Given the description of an element on the screen output the (x, y) to click on. 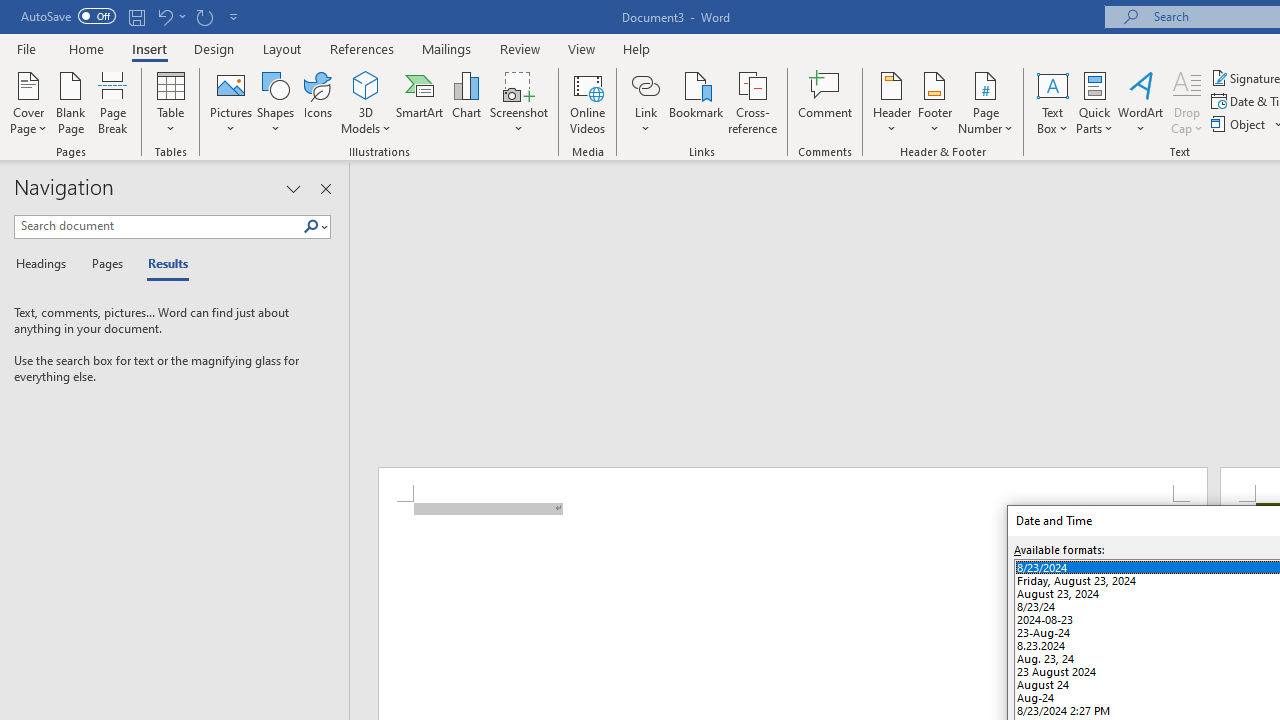
Undo New Page (164, 15)
SmartArt... (419, 102)
Repeat Doc Close (204, 15)
Cross-reference... (752, 102)
Cover Page (28, 102)
3D Models (366, 84)
Bookmark... (695, 102)
Object... (1240, 124)
Page Number (986, 102)
